Given the description of an element on the screen output the (x, y) to click on. 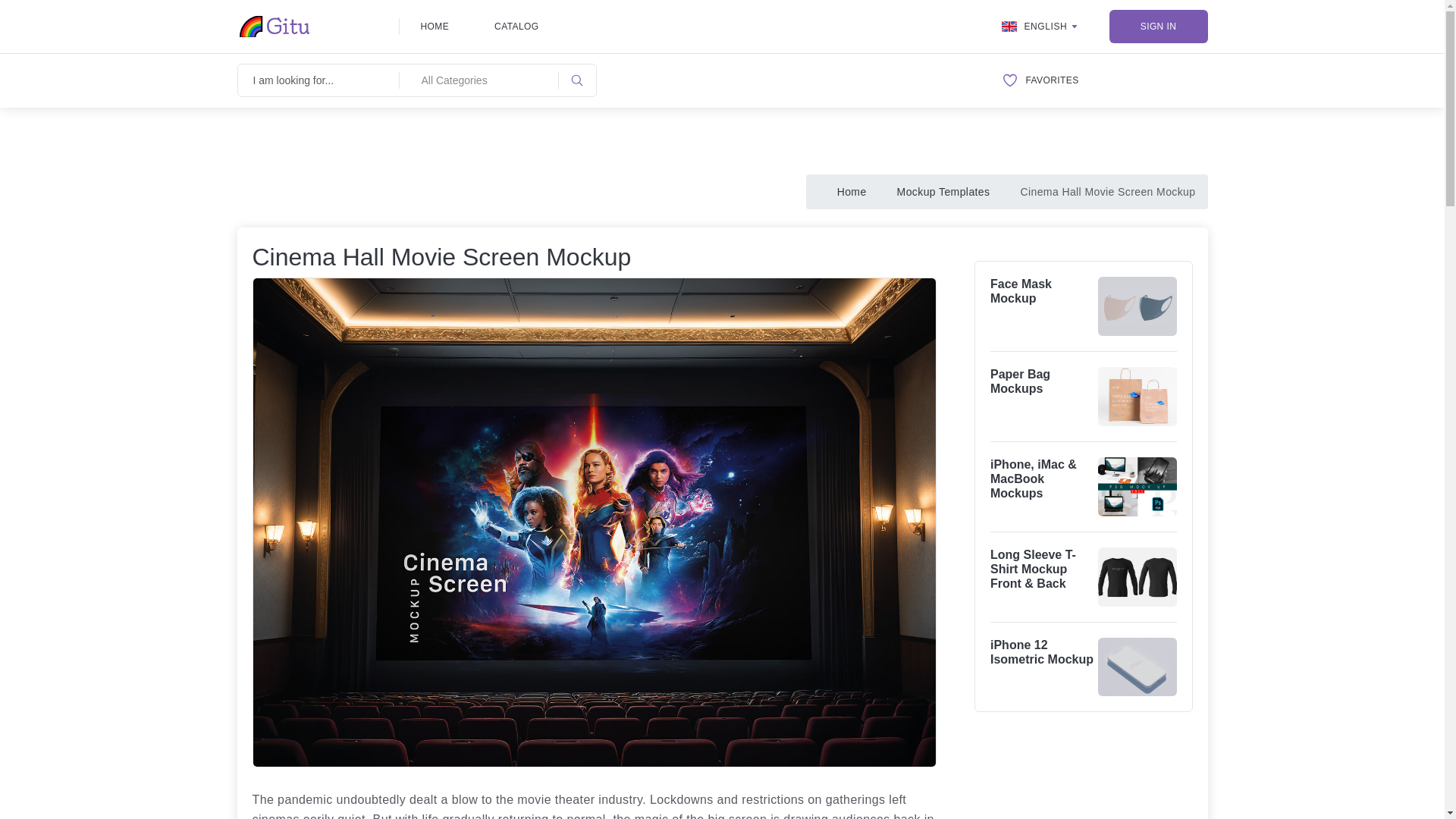
FAVORITES (1039, 80)
Paper Bag Mockups (1019, 380)
HOME (434, 26)
Mockup Templates (943, 191)
SIGN IN (1157, 26)
CATALOG (516, 26)
ENGLISH (1039, 26)
iPhone 12 Isometric Mockup (1041, 651)
Home (851, 191)
Face Mask Mockup (1020, 290)
